Given the description of an element on the screen output the (x, y) to click on. 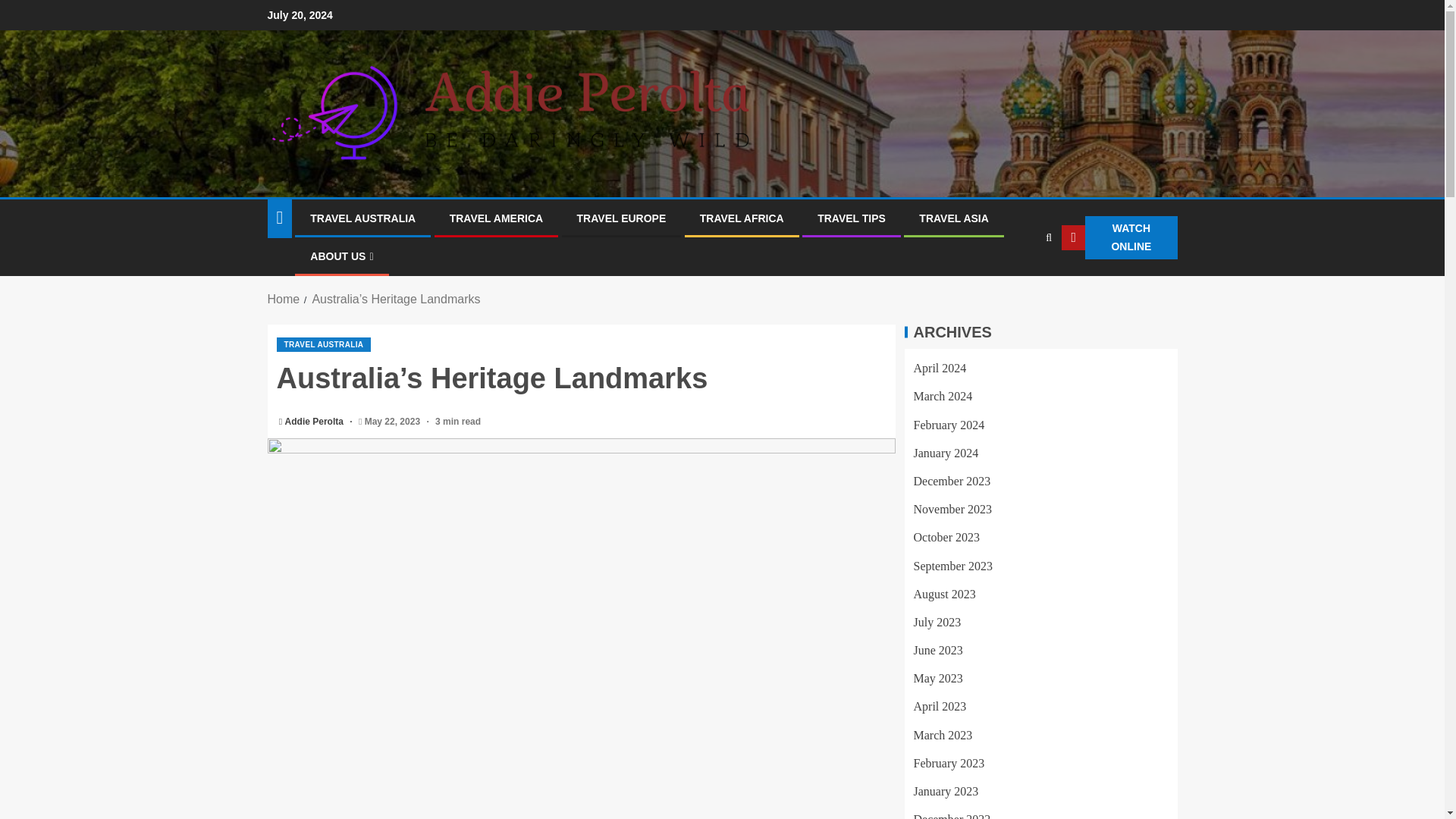
TRAVEL EUROPE (621, 218)
ABOUT US (341, 256)
TRAVEL AMERICA (496, 218)
TRAVEL TIPS (850, 218)
Search (1018, 284)
WATCH ONLINE (1118, 238)
TRAVEL ASIA (953, 218)
TRAVEL AUSTRALIA (362, 218)
TRAVEL AUSTRALIA (323, 344)
Addie Perolta (315, 421)
April 2024 (939, 367)
TRAVEL AFRICA (742, 218)
Home (282, 298)
